Given the description of an element on the screen output the (x, y) to click on. 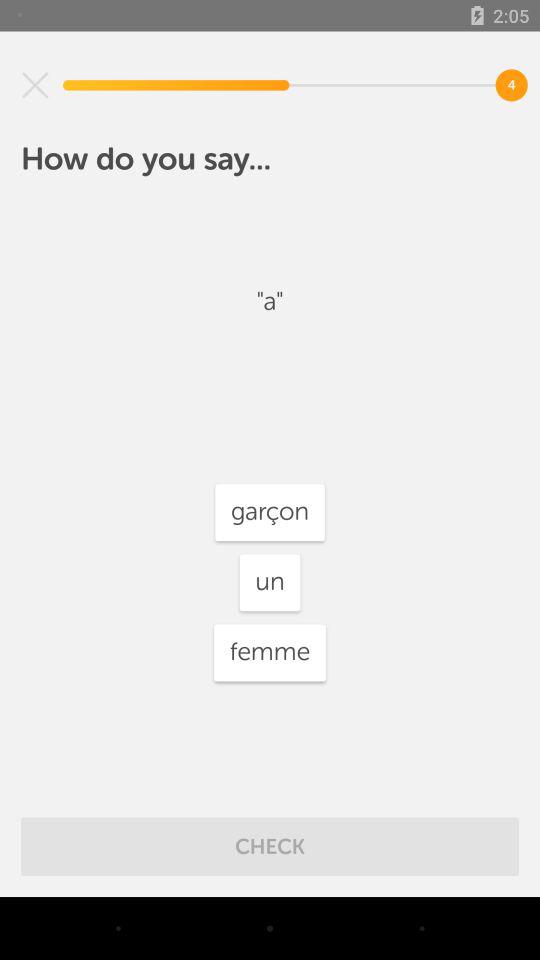
select the item above how do you (35, 85)
